Given the description of an element on the screen output the (x, y) to click on. 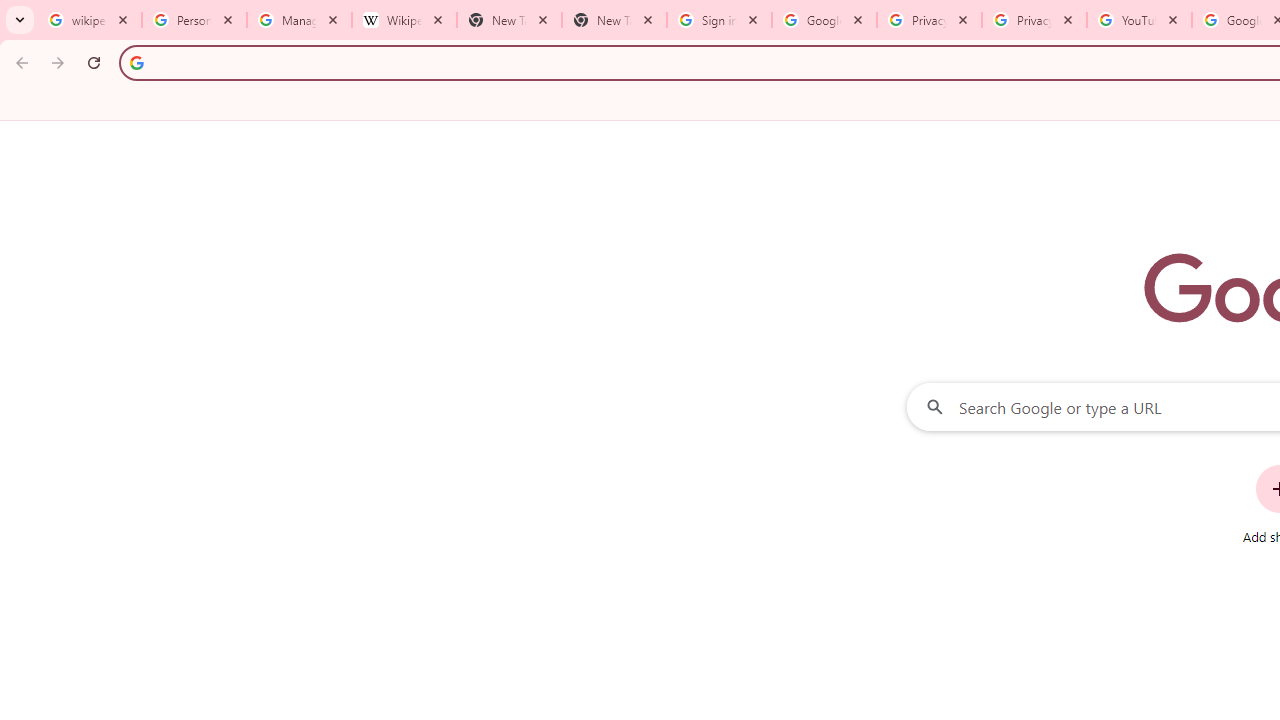
Manage your Location History - Google Search Help (299, 20)
Sign in - Google Accounts (718, 20)
YouTube (1138, 20)
Personalization & Google Search results - Google Search Help (194, 20)
Search icon (136, 62)
New Tab (613, 20)
